Given the description of an element on the screen output the (x, y) to click on. 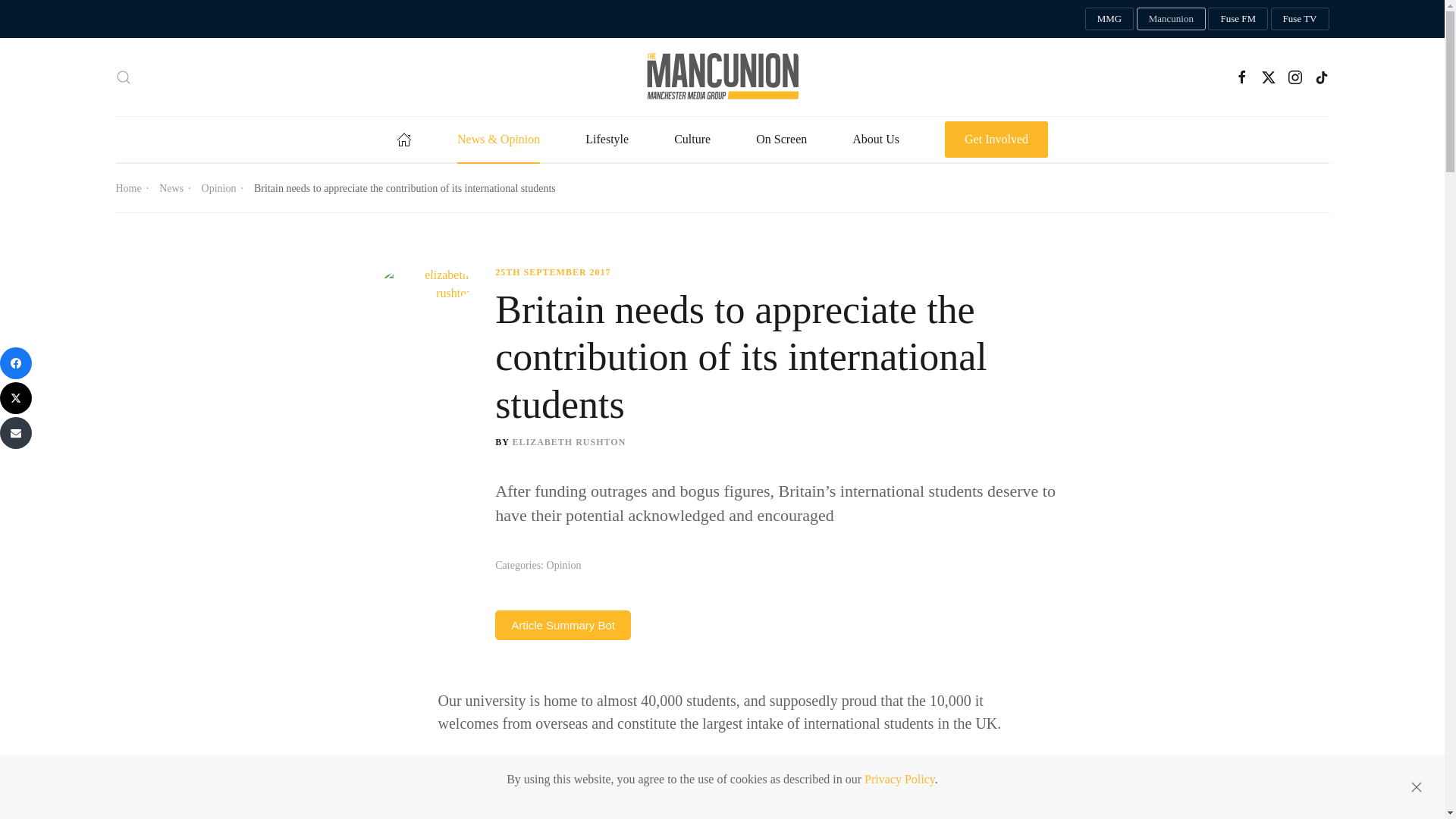
Manchester Fuse TV (1300, 18)
Manchester University Mancunion Newspaper (1171, 18)
MMG (1109, 18)
Posts by Elizabeth Rushton (569, 441)
Manchester Fuse FM (1238, 18)
Mancunion (1171, 18)
Fuse FM (1238, 18)
Manchester Media Group (1109, 18)
Fuse TV (1300, 18)
